Given the description of an element on the screen output the (x, y) to click on. 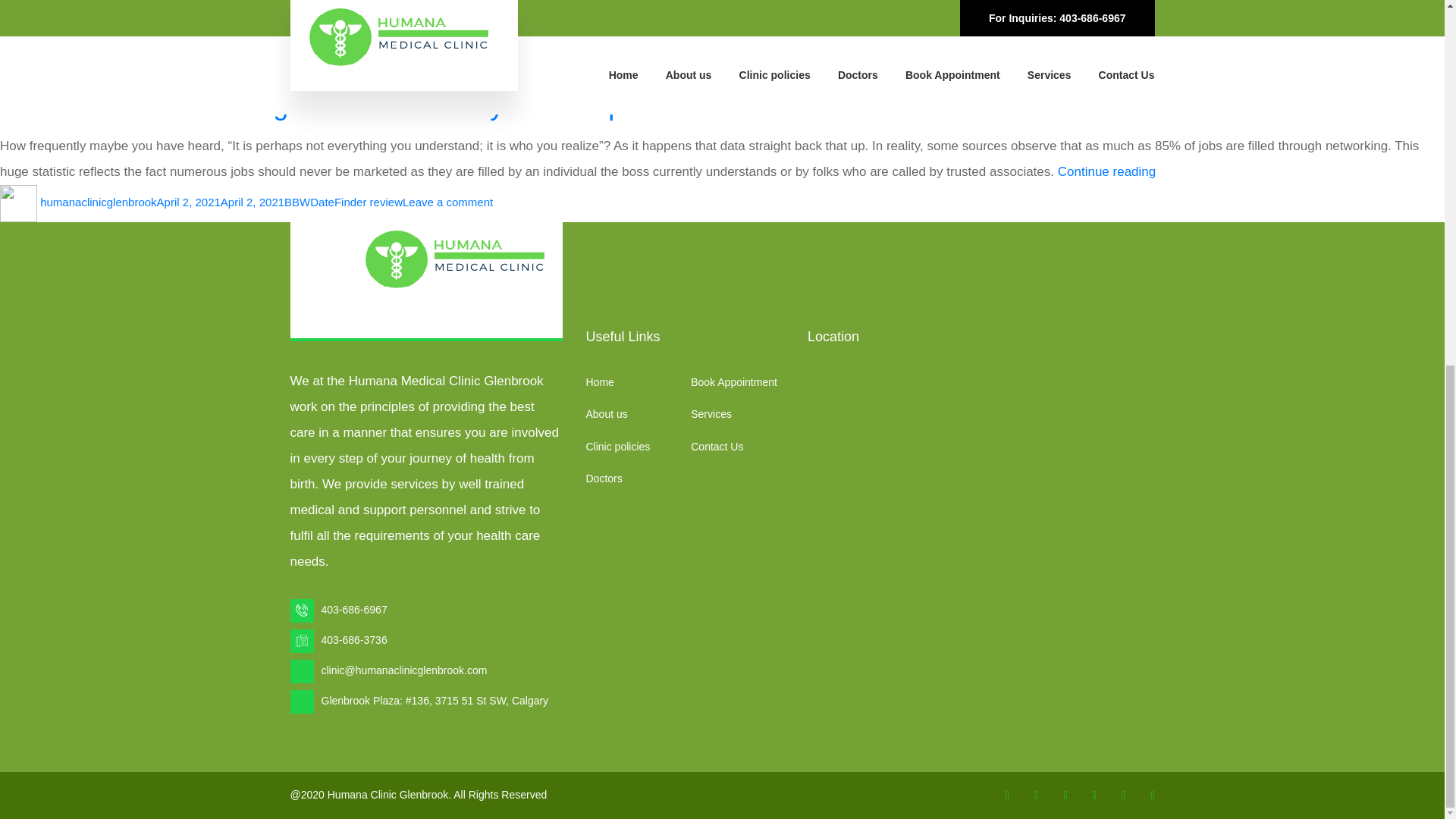
BBWDateFinder review (343, 68)
humanaclinicglenbrook (97, 68)
BBWDateFinder review (343, 201)
April 2, 2021April 2, 2021 (220, 201)
April 7, 2021April 7, 2021 (220, 68)
Contact Us (716, 446)
About us (606, 413)
Methods for Networking. About Ticket to your workplace (336, 104)
Doctors (603, 478)
